Given the description of an element on the screen output the (x, y) to click on. 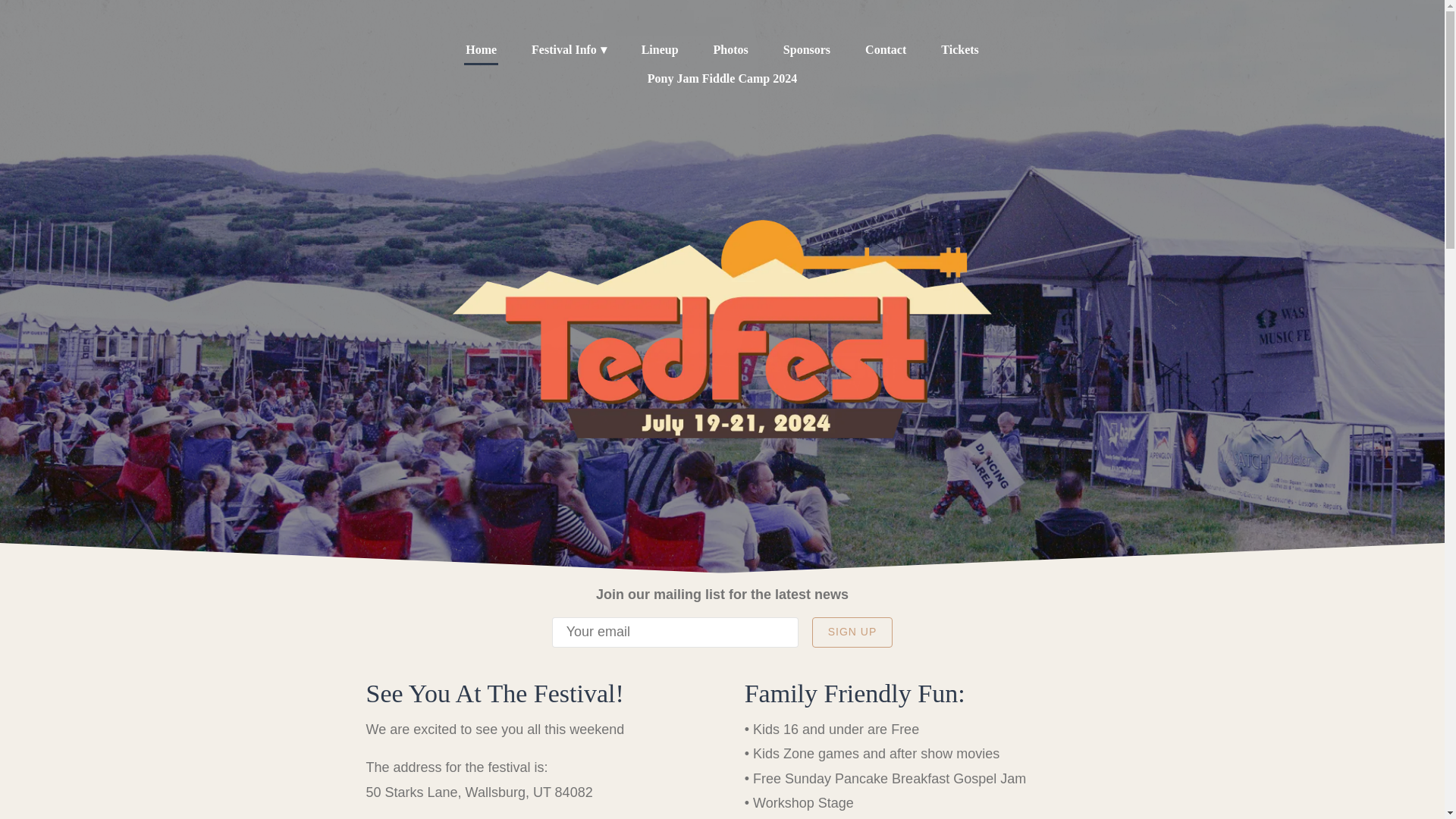
Pony Jam Fiddle Camp 2024 (721, 78)
SIGN UP (852, 632)
Sponsors (806, 49)
Festival Info (568, 49)
Photos (730, 49)
Lineup (659, 49)
Home (480, 50)
Contact (885, 49)
Tickets (959, 49)
